Given the description of an element on the screen output the (x, y) to click on. 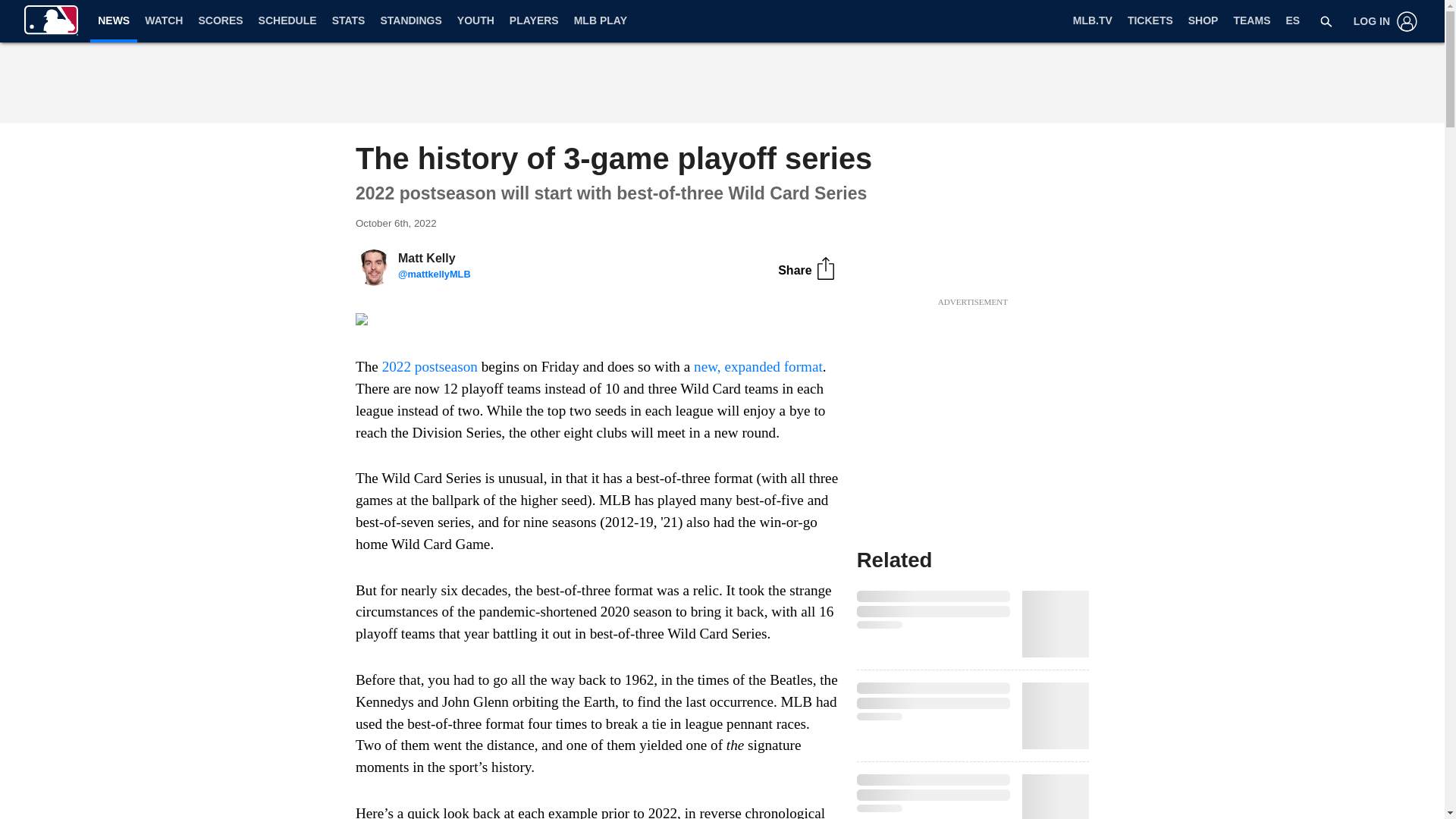
WATCH (163, 21)
STANDINGS (410, 21)
search-1 (1326, 21)
SCHEDULE (287, 21)
share-square-27 (825, 268)
NEWS (113, 19)
STATS (348, 21)
SCORES (220, 21)
